Given the description of an element on the screen output the (x, y) to click on. 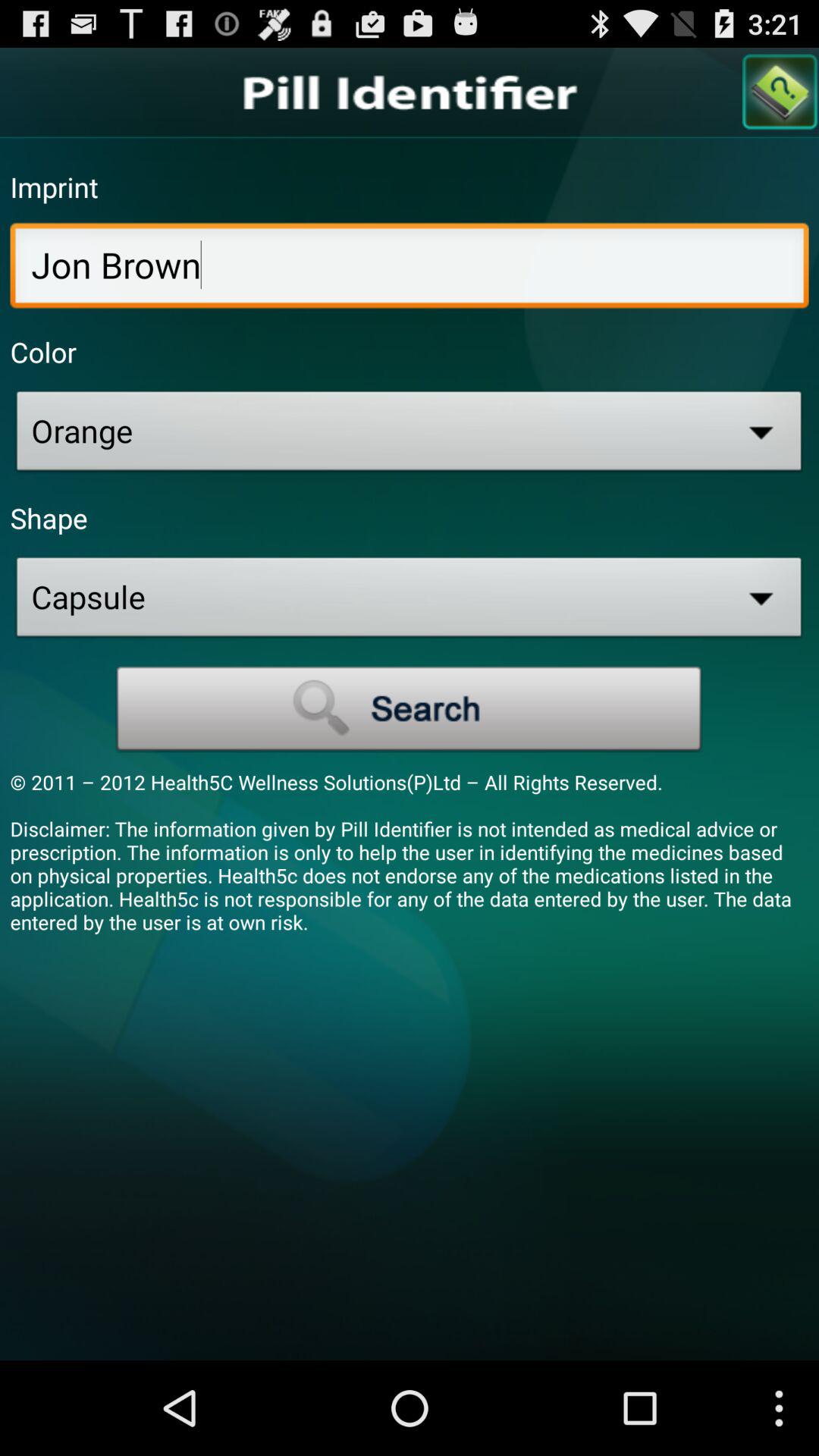
search box (409, 709)
